Given the description of an element on the screen output the (x, y) to click on. 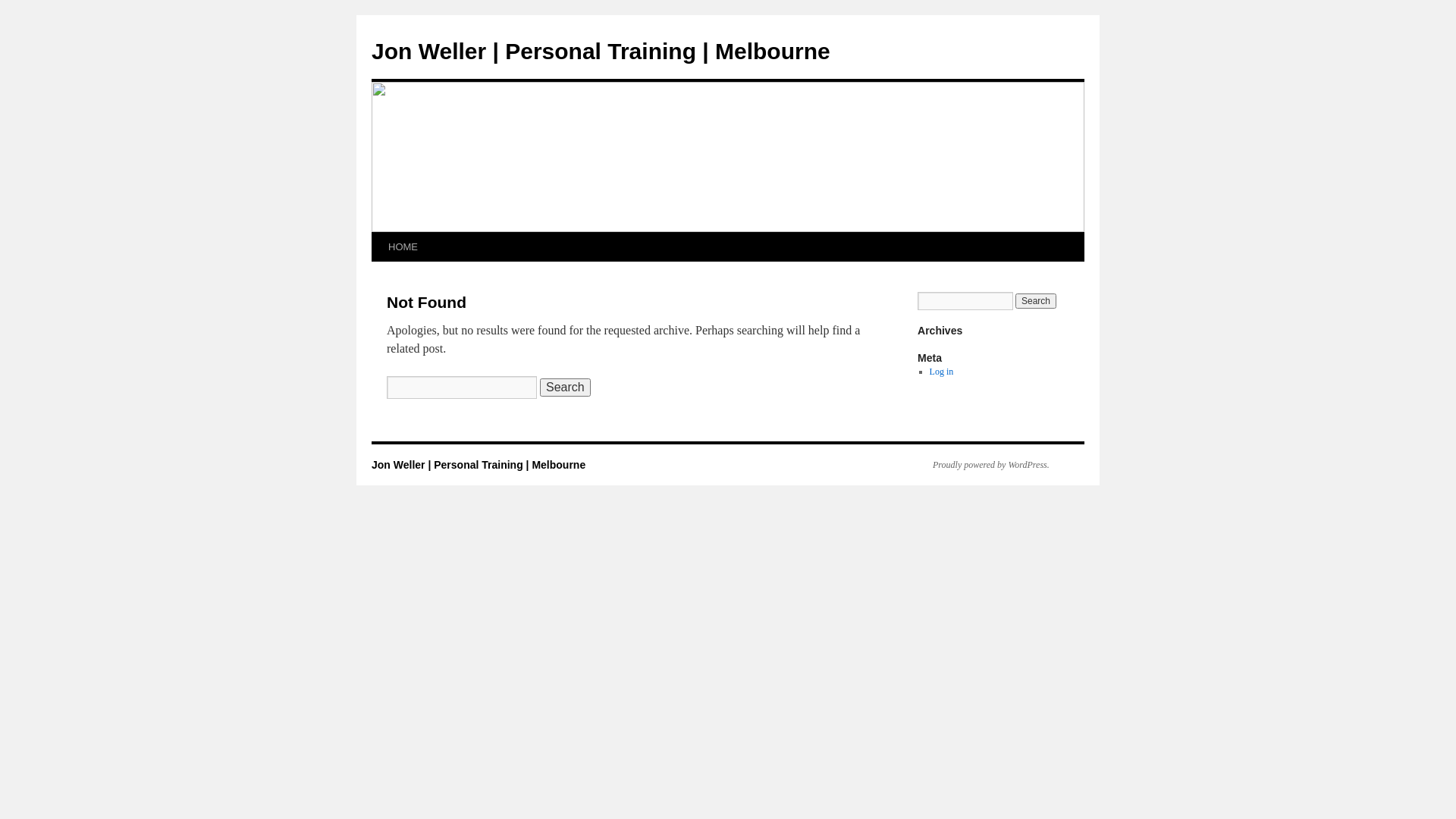
HOME Element type: text (402, 246)
Skip to content Element type: text (378, 275)
Jon Weller | Personal Training | Melbourne Element type: text (600, 50)
Search Element type: text (1035, 300)
Jon Weller | Personal Training | Melbourne Element type: text (478, 464)
Log in Element type: text (941, 371)
Proudly powered by WordPress. Element type: text (983, 464)
Search Element type: text (564, 387)
